Given the description of an element on the screen output the (x, y) to click on. 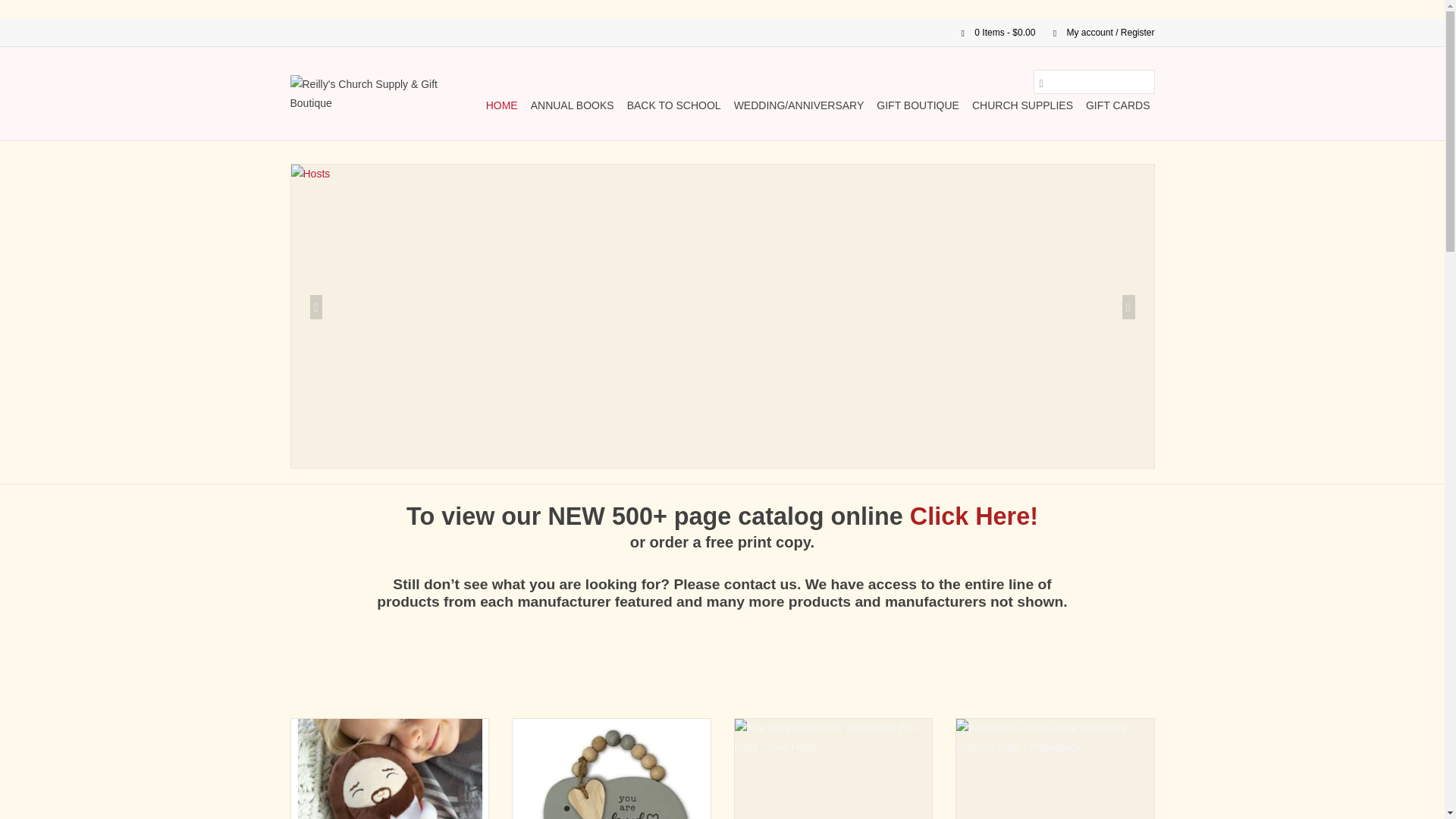
Cart (992, 32)
Back to School (674, 105)
My account (1096, 32)
Annual Books (571, 105)
HOME (501, 105)
BACK TO SCHOOL (674, 105)
Gift Boutique (917, 105)
ANNUAL BOOKS (571, 105)
GIFT BOUTIQUE (917, 105)
